Given the description of an element on the screen output the (x, y) to click on. 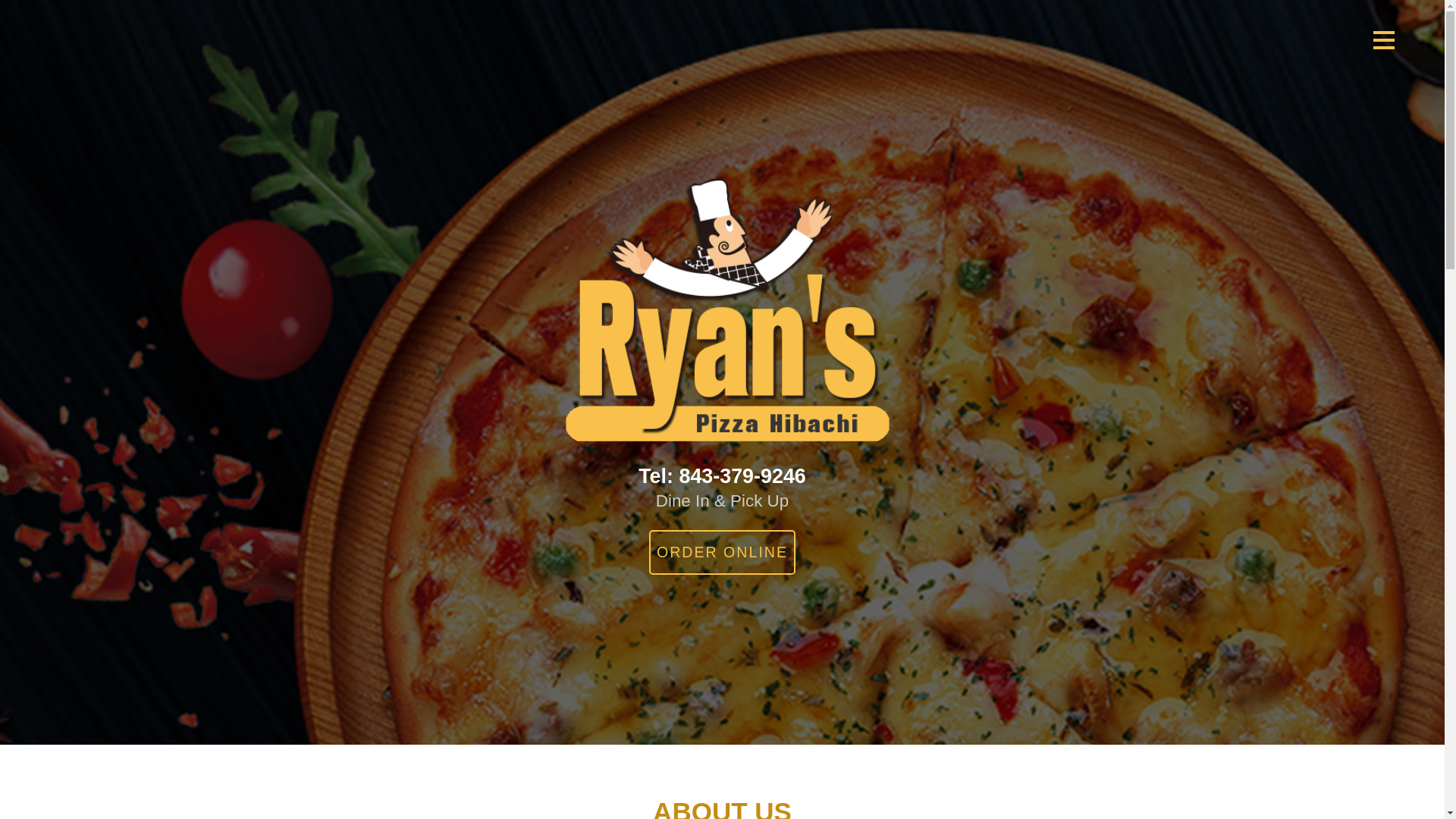
843-379-9246 (741, 476)
ORDER ONLINE (722, 551)
